Given the description of an element on the screen output the (x, y) to click on. 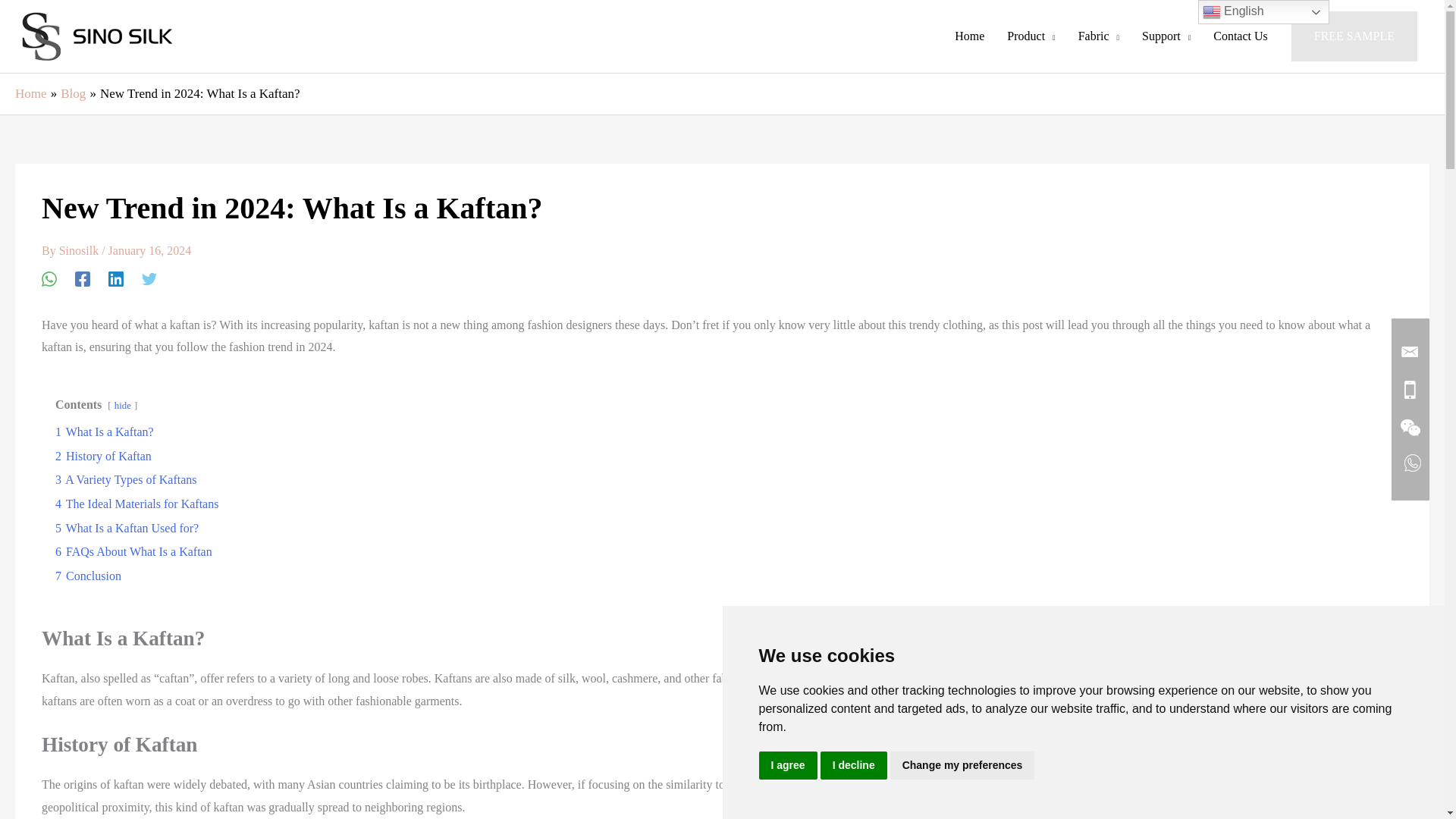
View all posts by Sinosilk (80, 250)
I agree (787, 765)
I decline (853, 765)
Change my preferences (962, 765)
Product (1030, 36)
